Given the description of an element on the screen output the (x, y) to click on. 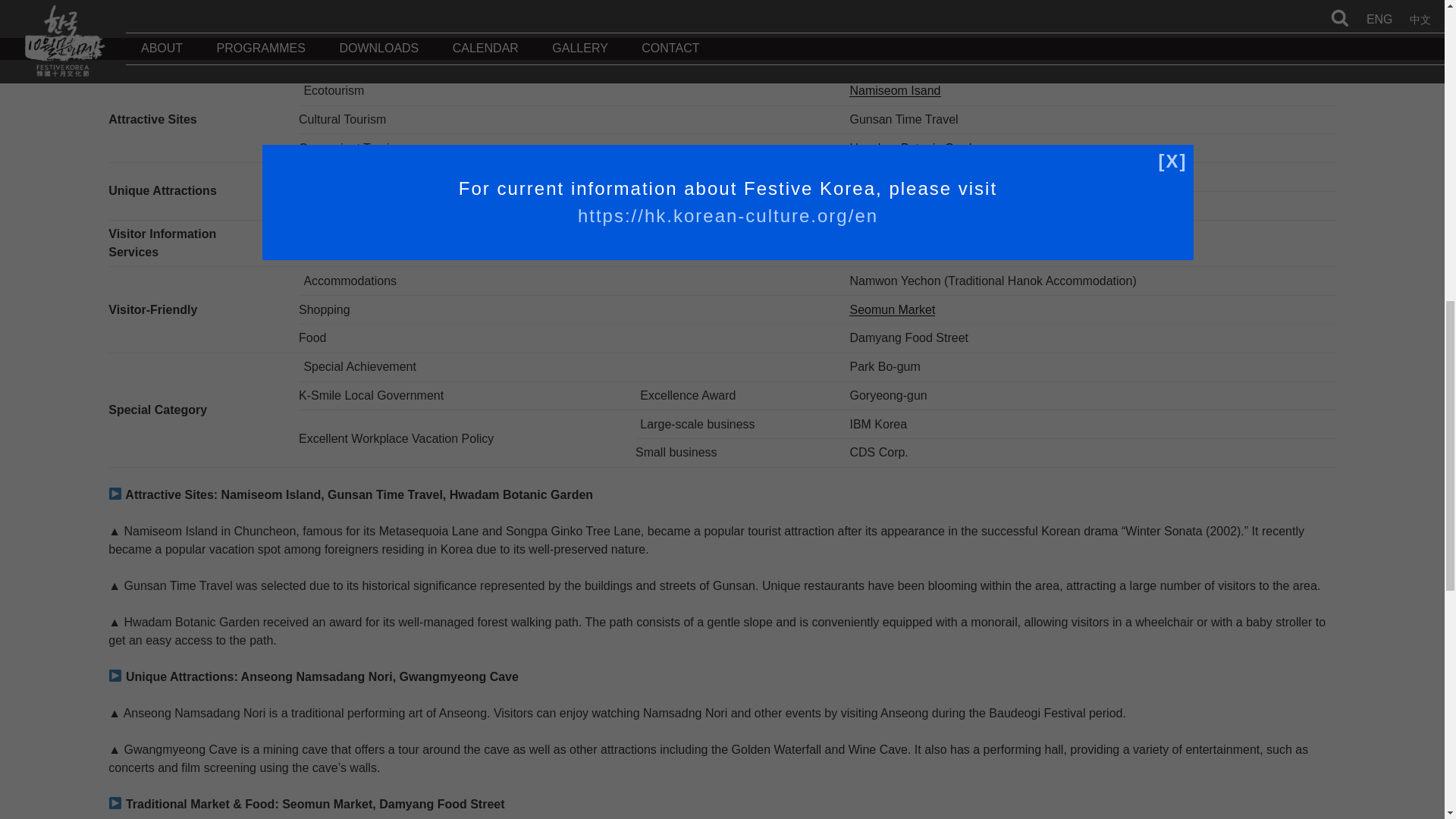
go to web (905, 205)
go to web (894, 90)
Hwadam Botanic Garden (916, 147)
go to web (891, 309)
Namiseom Isand (894, 90)
